Given the description of an element on the screen output the (x, y) to click on. 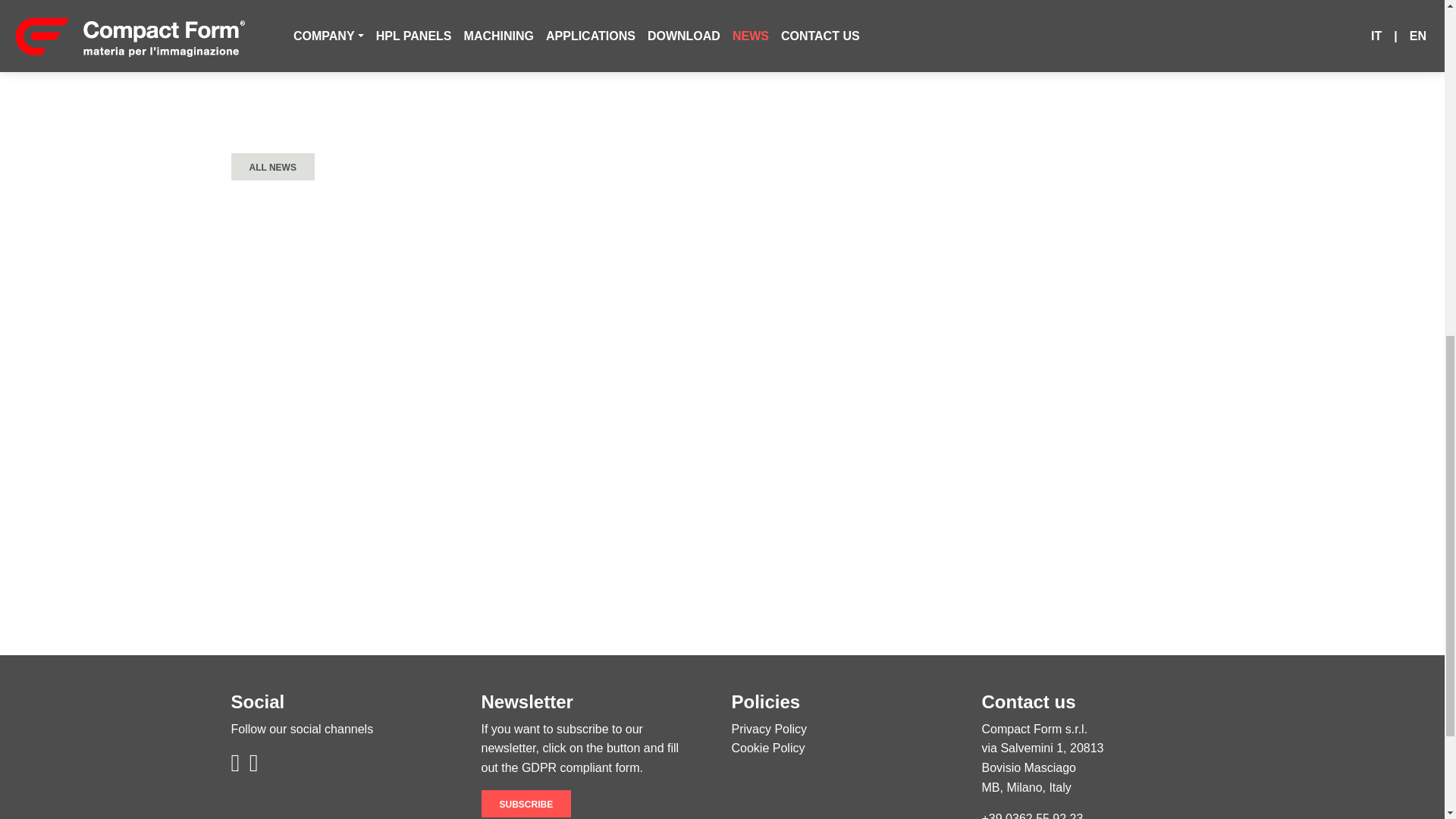
SUBSCRIBE (525, 803)
Privacy Policy (768, 728)
Compact Form FaceBook page (236, 766)
Privacy Policy - Compact Form, HPL panels machining in Italy (768, 728)
ALL NEWS (272, 166)
Cookie Policy (767, 748)
